Given the description of an element on the screen output the (x, y) to click on. 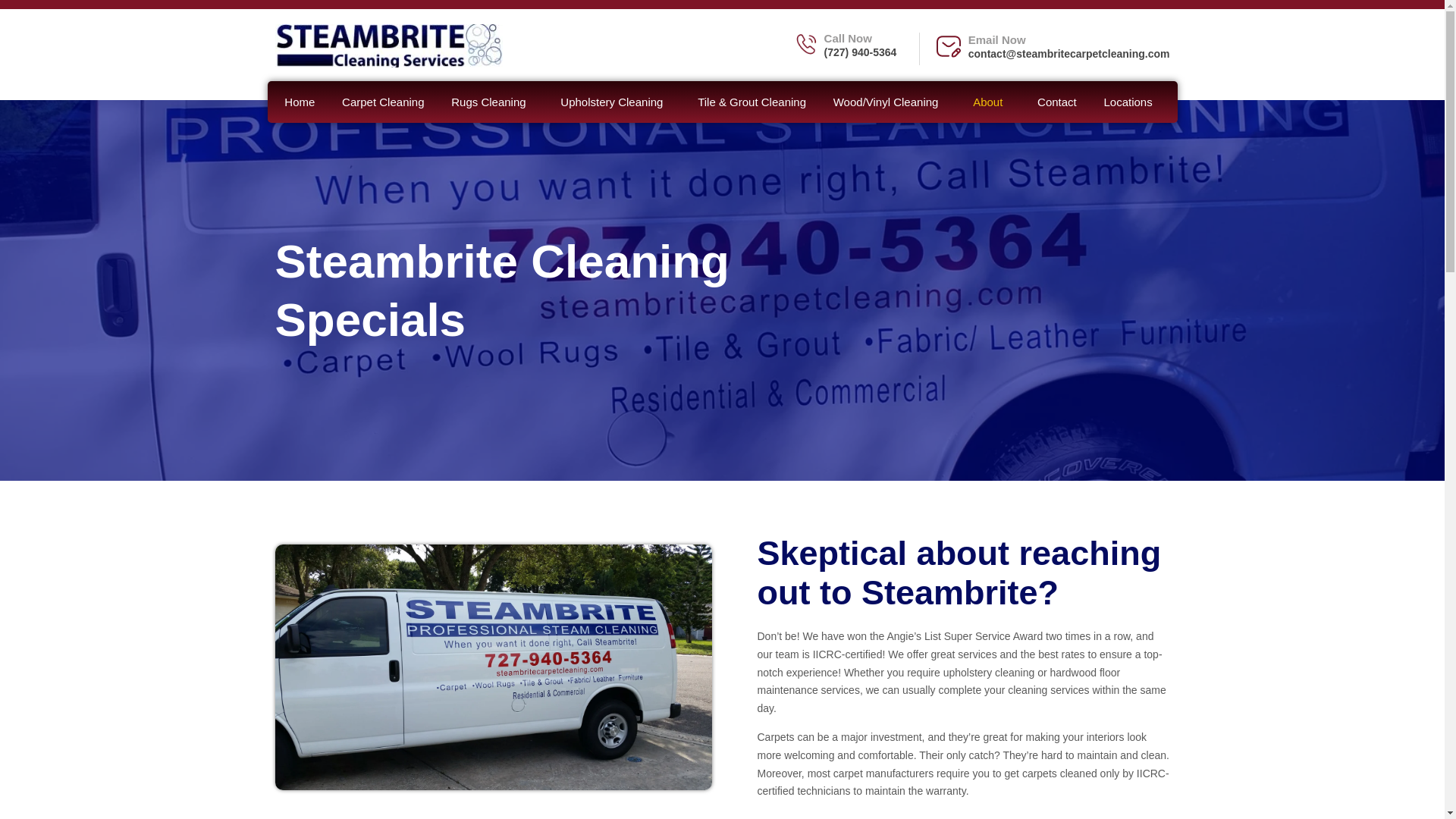
Call Now (848, 38)
Rugs Cleaning (492, 101)
Email Now (997, 39)
Home (299, 101)
Carpet Cleaning (383, 101)
